Given the description of an element on the screen output the (x, y) to click on. 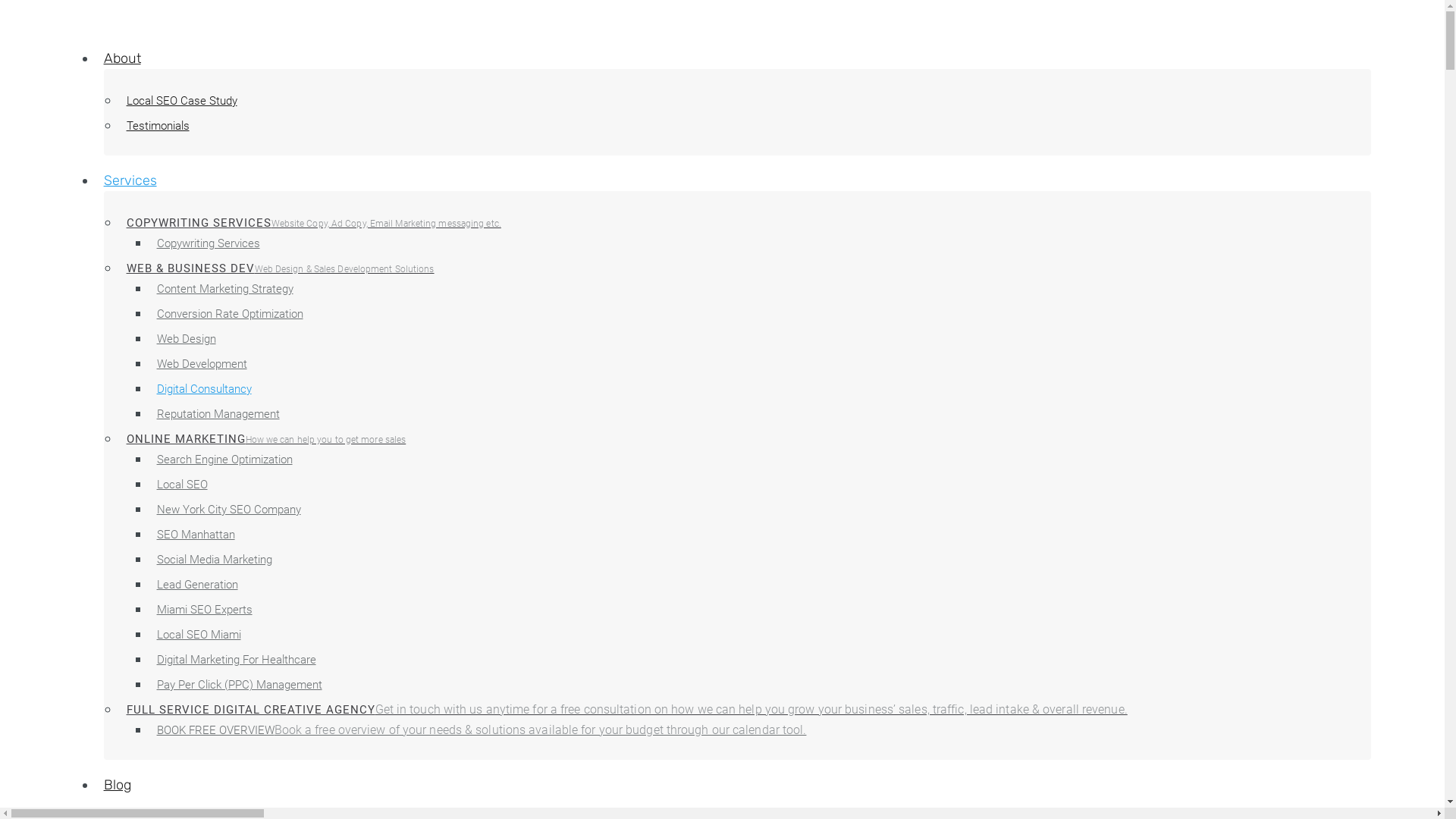
Web Design Element type: text (186, 338)
Testimonials Element type: text (157, 125)
Reputation Management Element type: text (217, 413)
Digital Marketing For Healthcare Element type: text (236, 659)
About Element type: text (122, 58)
Blog Element type: text (117, 784)
Copywriting Services Element type: text (208, 243)
Services Element type: text (129, 180)
Pay Per Click (PPC) Management Element type: text (239, 684)
ONLINE MARKETINGHow we can help you to get more sales Element type: text (266, 438)
Local SEO Miami Element type: text (198, 634)
Social Media Marketing Element type: text (214, 559)
Local SEO Case Study Element type: text (181, 100)
Local SEO Element type: text (181, 484)
SEO Manhattan Element type: text (195, 534)
Search Engine Optimization Element type: text (224, 459)
WEB & BUSINESS DEVWeb Design & Sales Development Solutions Element type: text (280, 268)
New York City SEO Company Element type: text (228, 509)
Miami SEO Experts Element type: text (204, 609)
Content Marketing Strategy Element type: text (224, 288)
Web Development Element type: text (201, 363)
Conversion Rate Optimization Element type: text (229, 313)
Lead Generation Element type: text (197, 584)
Digital Consultancy Element type: text (203, 388)
